Given the description of an element on the screen output the (x, y) to click on. 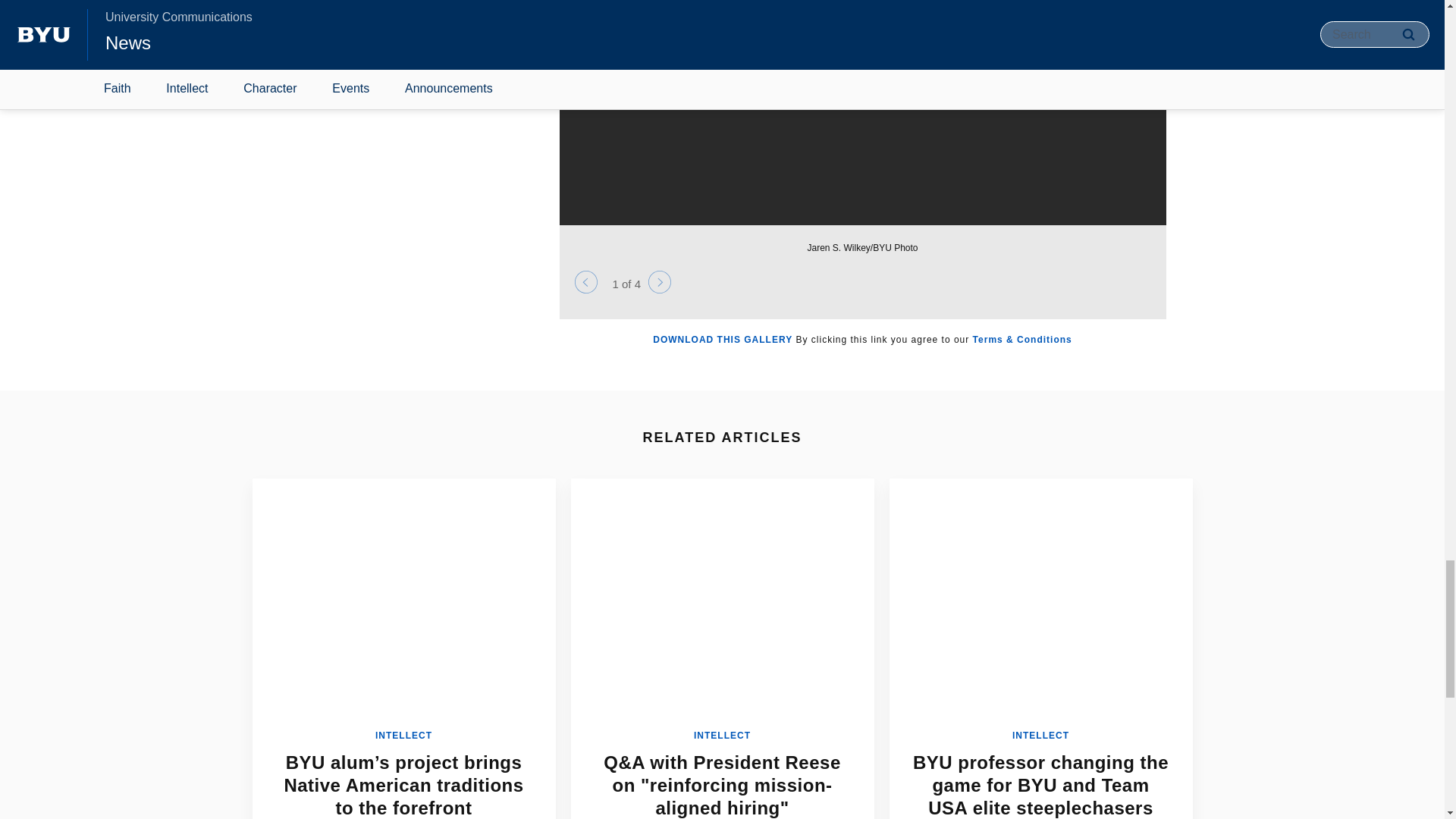
DOWNLOAD THIS GALLERY (722, 339)
INTELLECT (722, 735)
INTELLECT (1039, 735)
INTELLECT (403, 735)
